Given the description of an element on the screen output the (x, y) to click on. 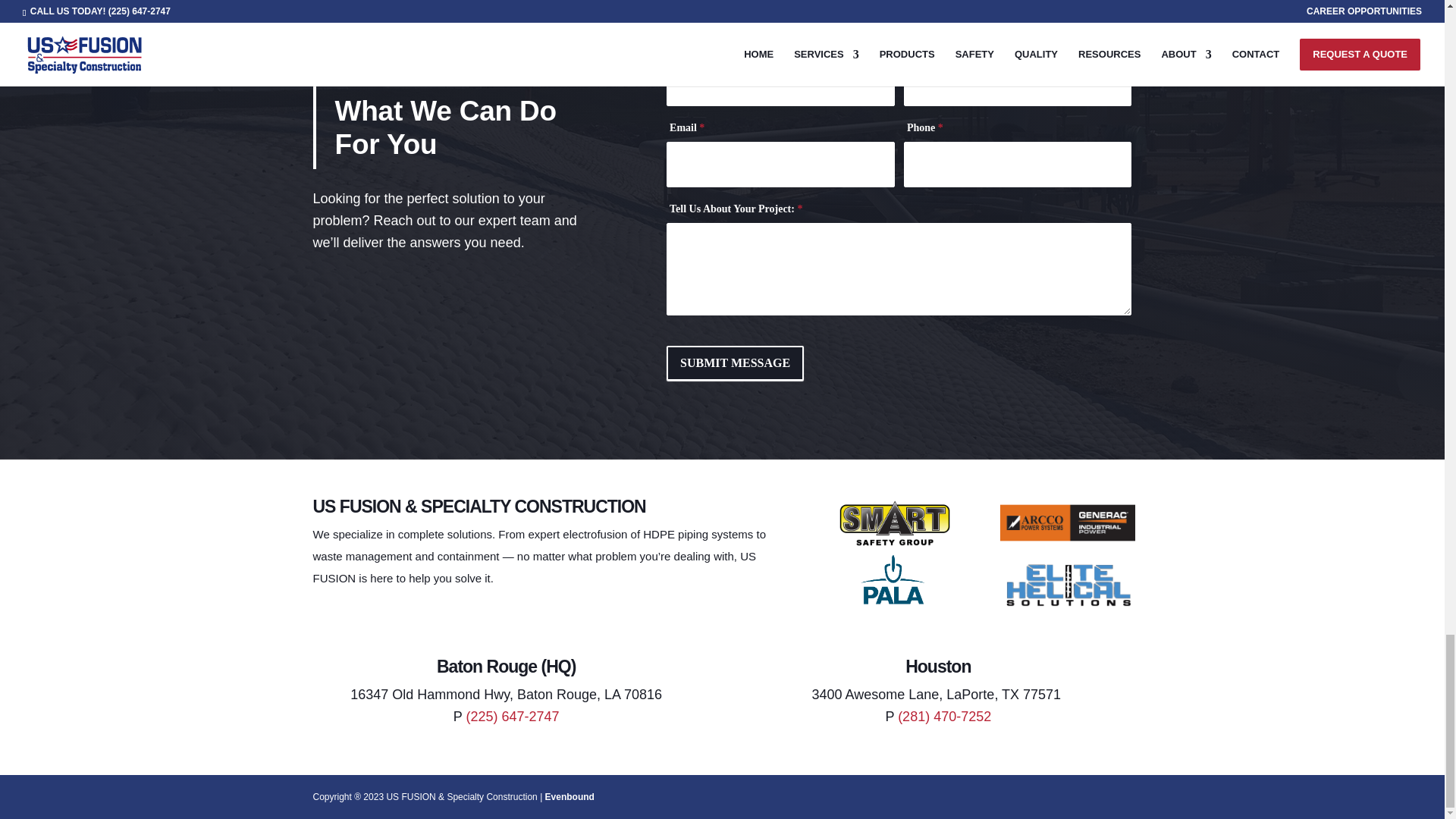
palamark-crop (912, 590)
SSG-Logo (904, 526)
elite (1067, 584)
